Given the description of an element on the screen output the (x, y) to click on. 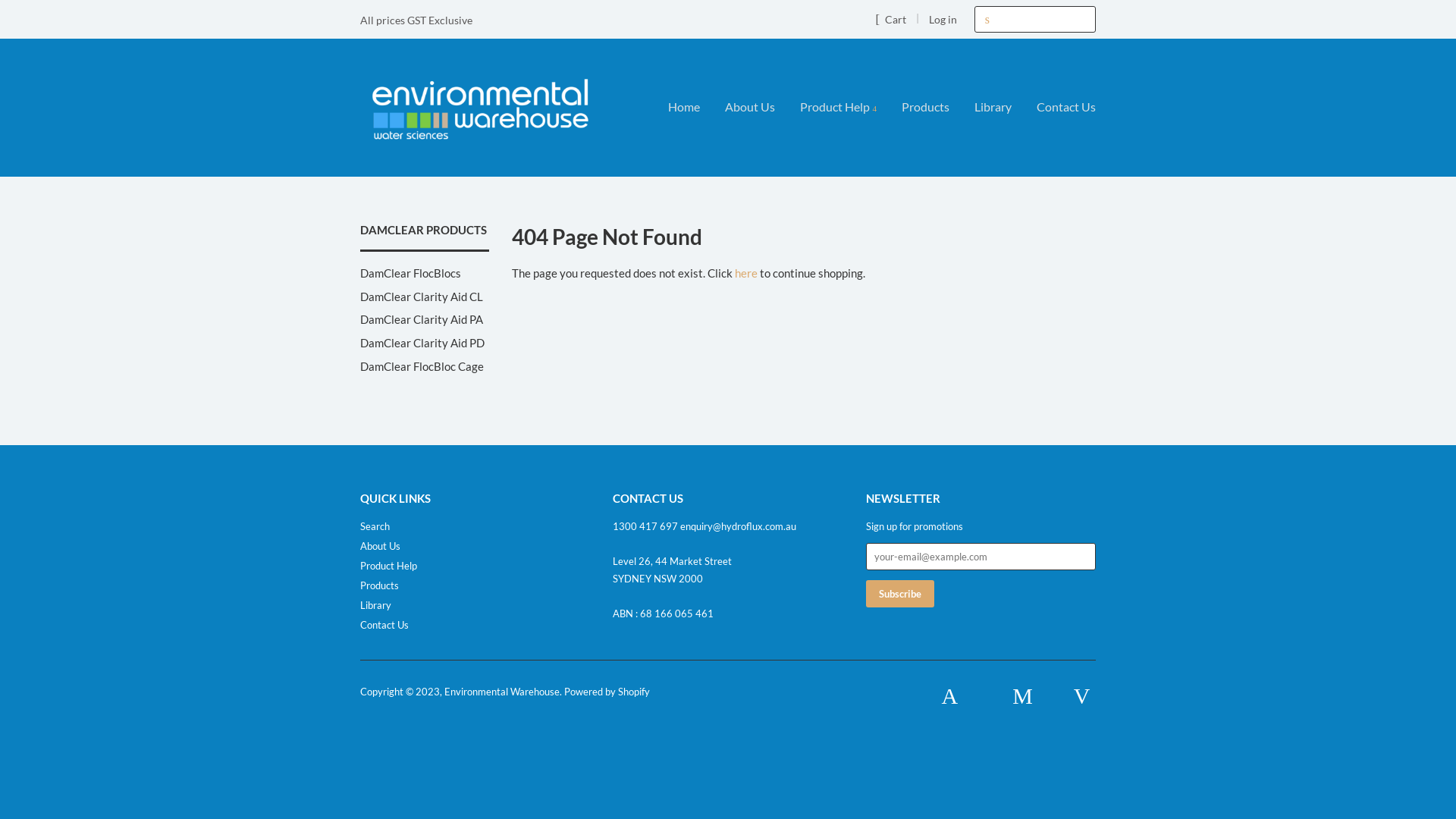
Contact Us Element type: text (384, 624)
Powered by Shopify Element type: text (606, 691)
here Element type: text (745, 272)
Contact Us Element type: text (1060, 106)
Library Element type: text (375, 605)
Search Element type: text (374, 526)
DamClear Clarity Aid PD Element type: text (422, 342)
Product Help Element type: text (838, 106)
DamClear Clarity Aid CL Element type: text (421, 296)
Environmental Warehouse Element type: text (501, 691)
Products Element type: text (925, 106)
Subscribe Element type: text (900, 593)
About Us Element type: text (380, 545)
Product Help Element type: text (388, 565)
Log in Element type: text (942, 18)
Products Element type: text (379, 585)
About Us Element type: text (749, 106)
DamClear FlocBloc Cage Element type: text (421, 366)
Home Element type: text (689, 106)
DamClear Clarity Aid PA Element type: text (421, 319)
Search Element type: text (987, 18)
Library Element type: text (992, 106)
DamClear FlocBlocs Element type: text (410, 272)
Cart Element type: text (890, 18)
